Given the description of an element on the screen output the (x, y) to click on. 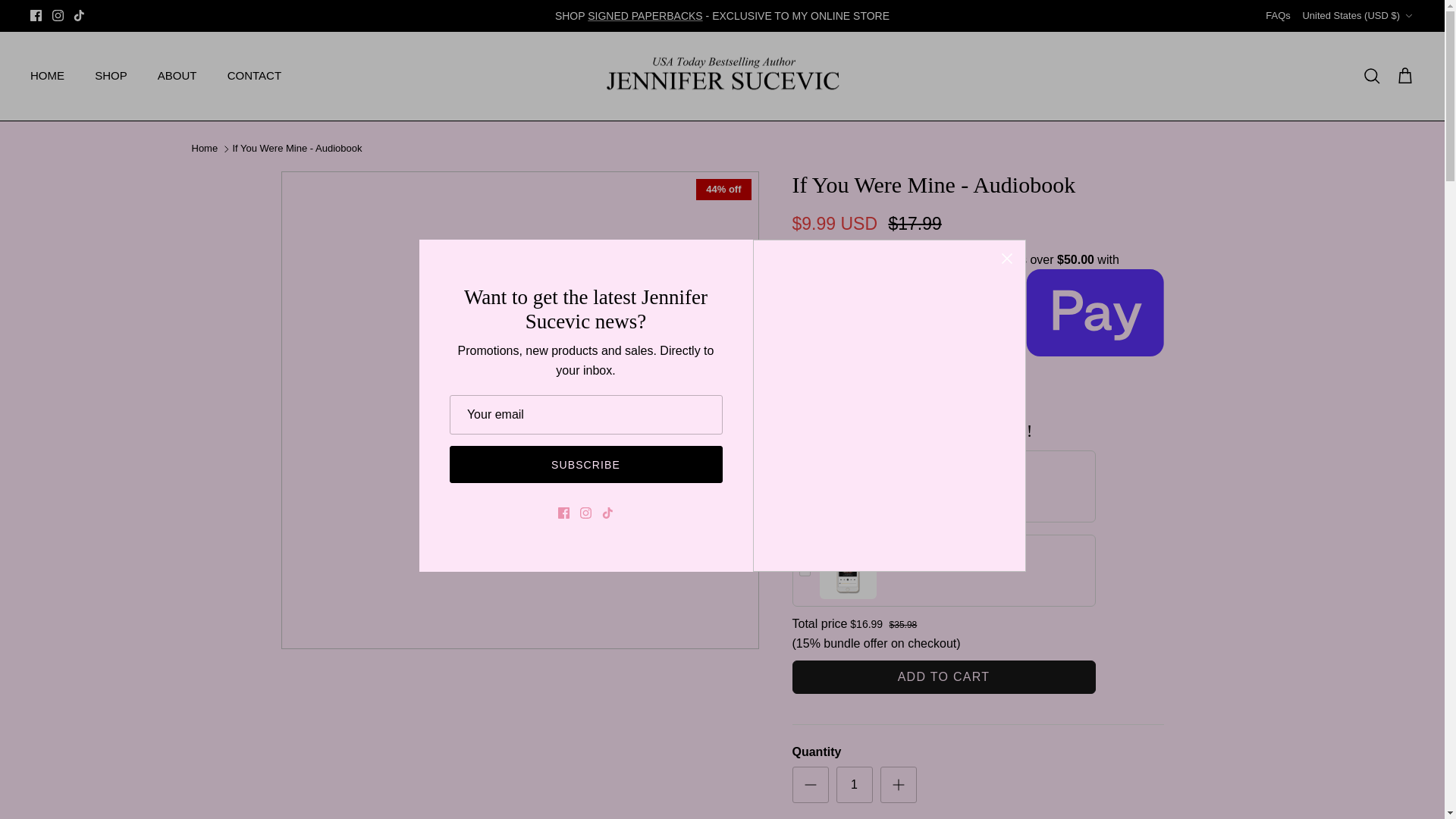
Instagram (58, 15)
Facebook (36, 15)
Plus (897, 784)
Jennifer Sucevic (721, 76)
Instagram (58, 15)
Minus (809, 784)
on (804, 486)
Facebook (36, 15)
1 (853, 784)
SIGNED PAPERBACKS (644, 15)
Paperback Books (644, 15)
on (804, 570)
Down (1408, 15)
